Given the description of an element on the screen output the (x, y) to click on. 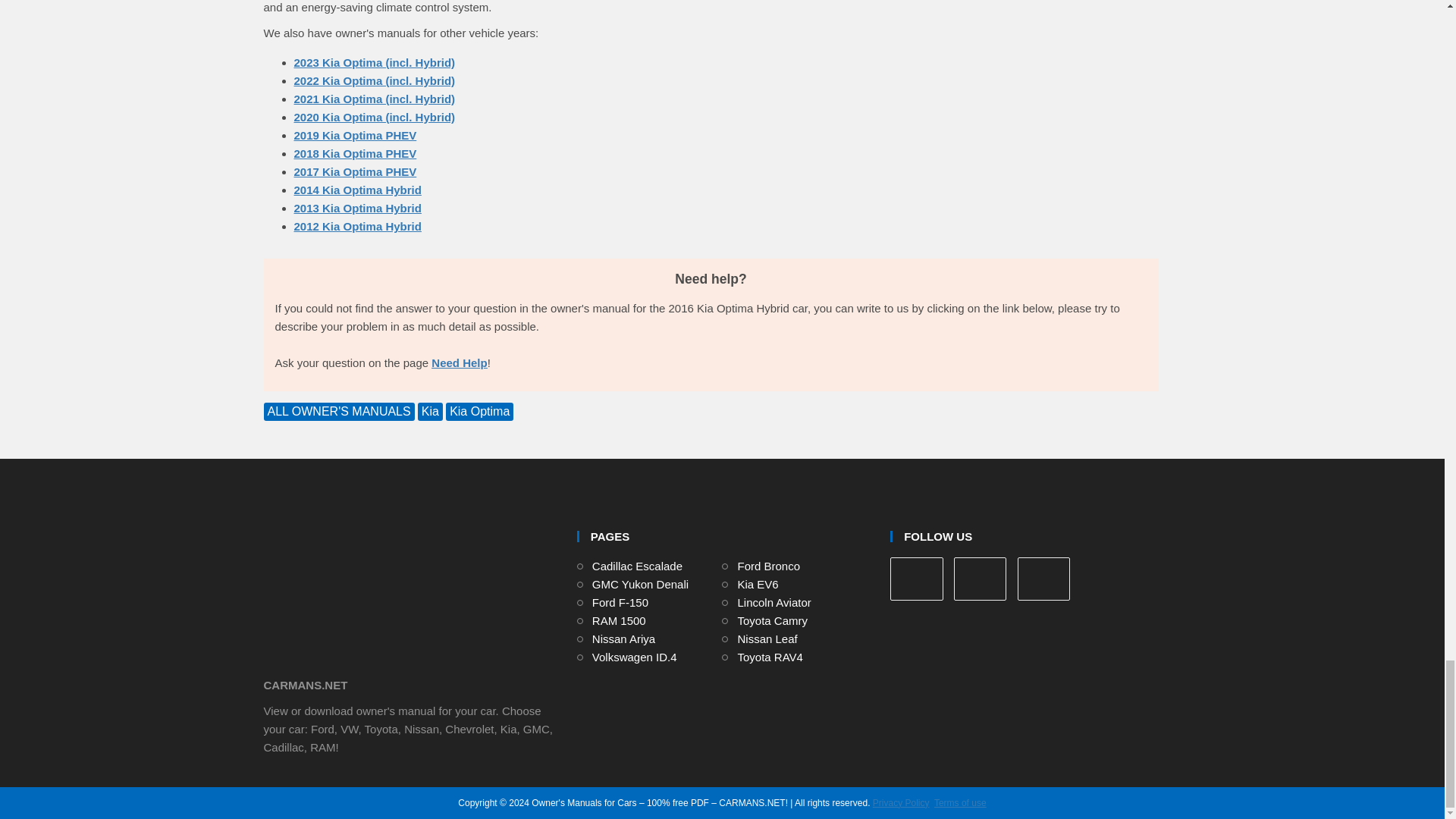
2017 Kia Optima PHEV (355, 171)
2019 Kia Optima PHEV (355, 134)
2018 Kia Optima PHEV (355, 153)
